Given the description of an element on the screen output the (x, y) to click on. 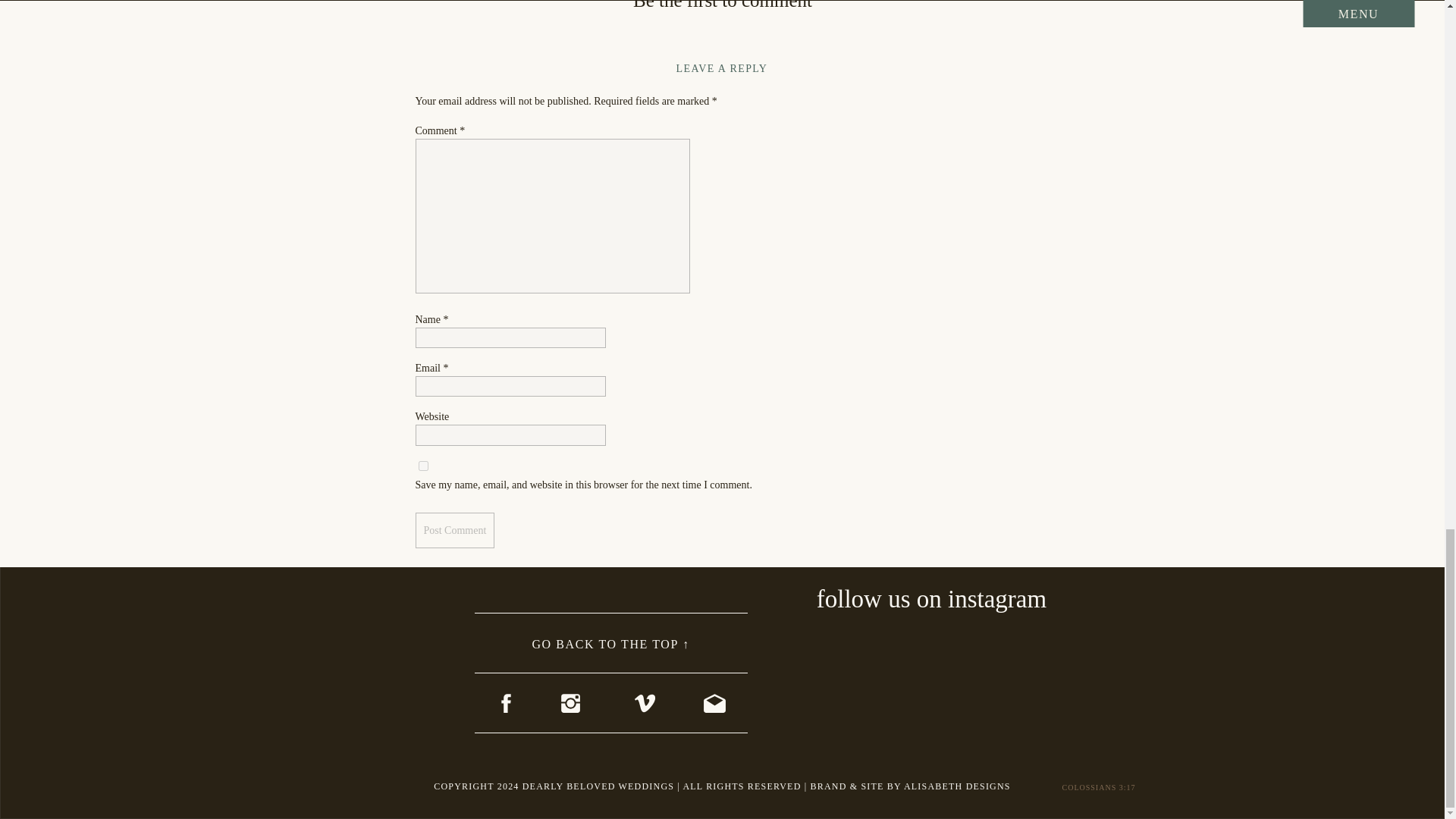
Post Comment (454, 529)
Be the first to comment (722, 5)
Post Comment (454, 529)
yes (423, 465)
